Given the description of an element on the screen output the (x, y) to click on. 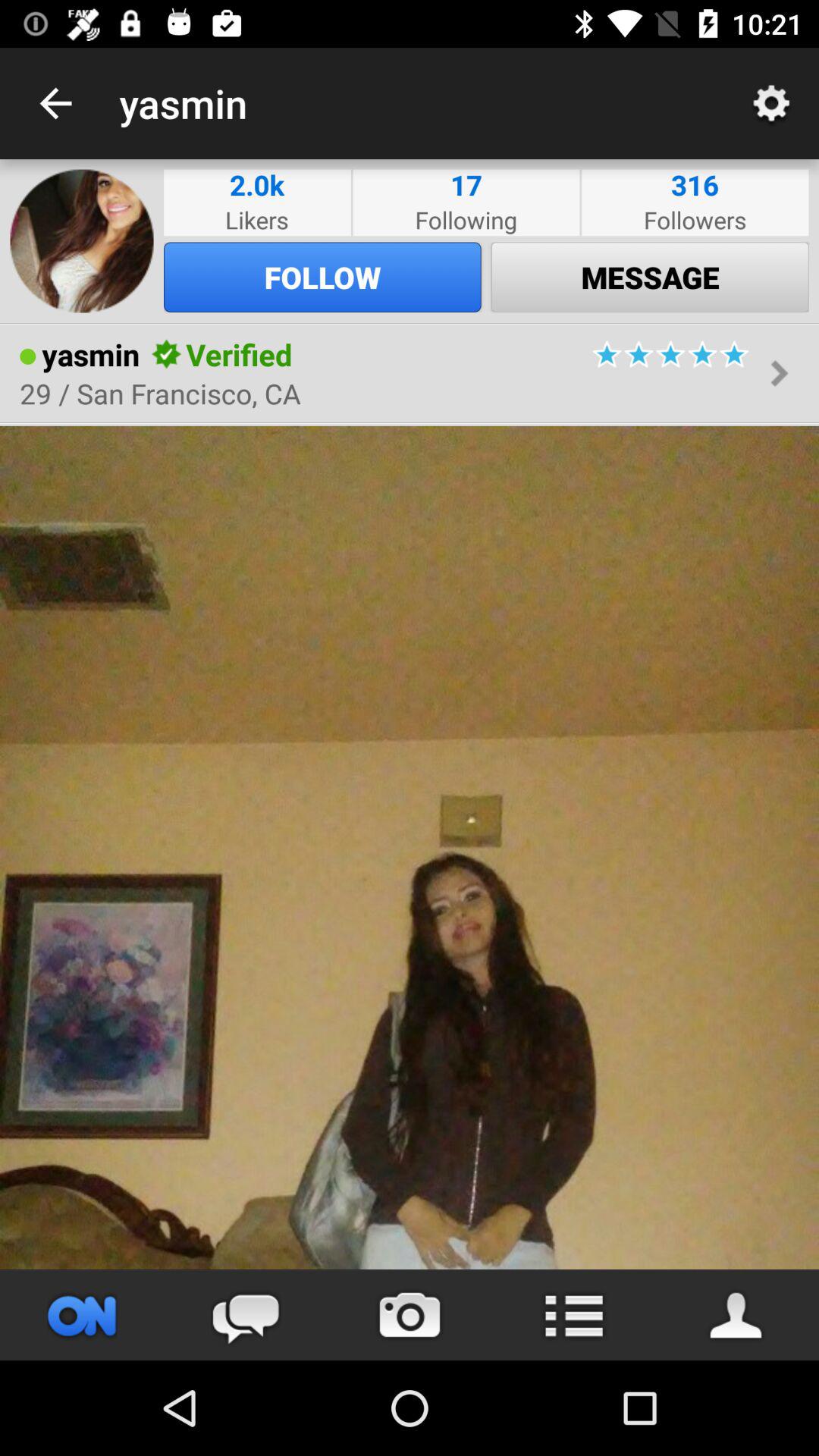
on (81, 1315)
